Given the description of an element on the screen output the (x, y) to click on. 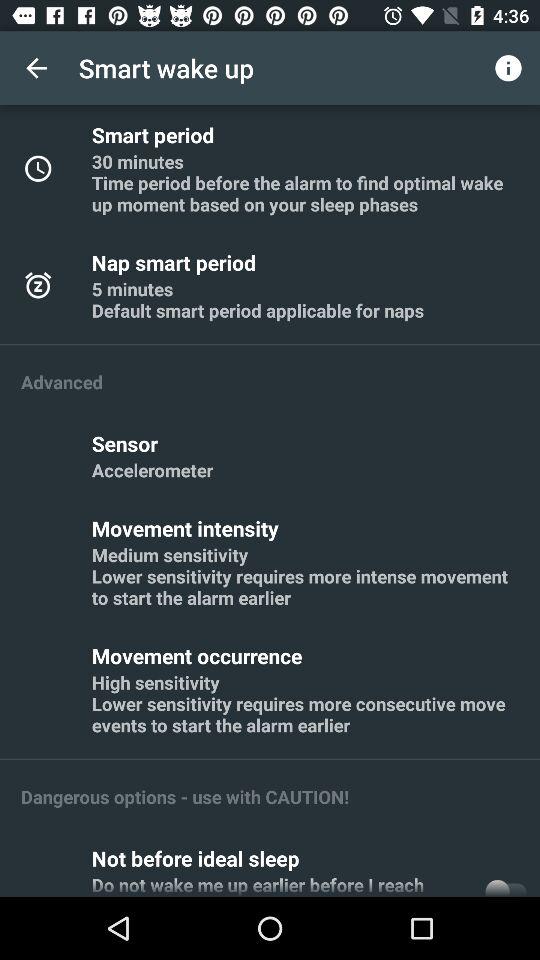
click the icon at the top right corner (508, 67)
